Given the description of an element on the screen output the (x, y) to click on. 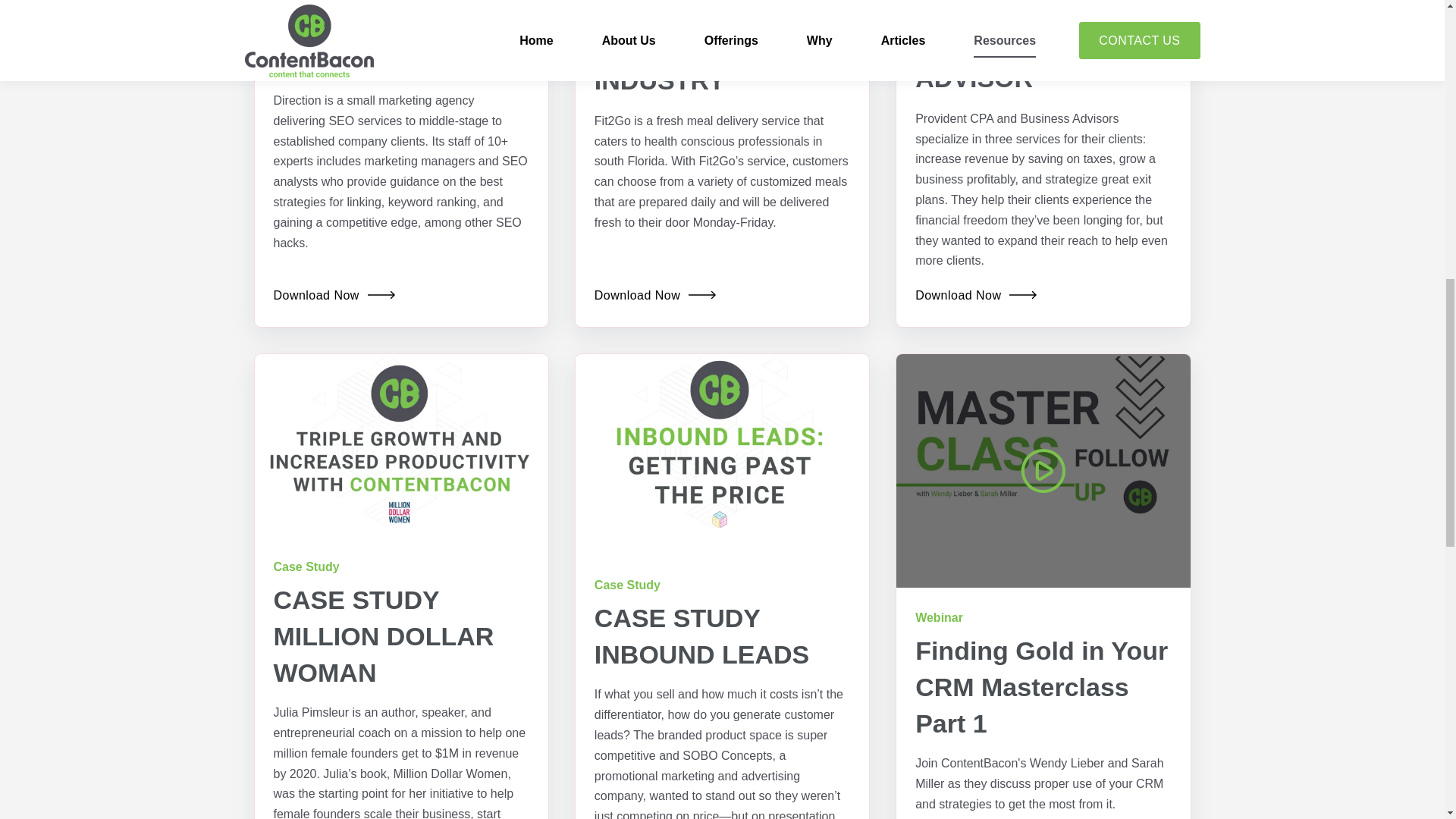
Download Now (655, 296)
Download Now (333, 296)
Download Now (975, 296)
